Given the description of an element on the screen output the (x, y) to click on. 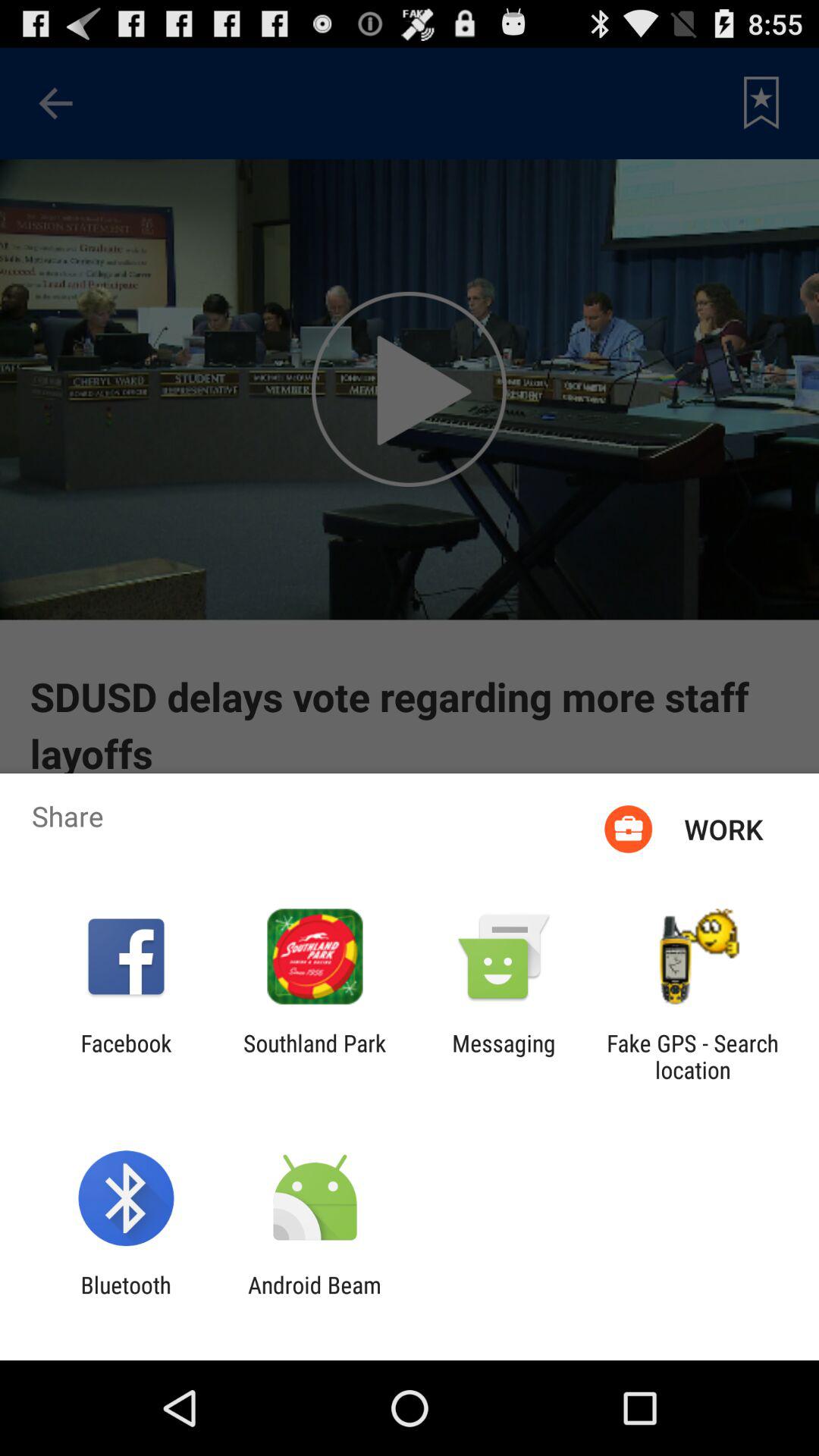
scroll to southland park item (314, 1056)
